Given the description of an element on the screen output the (x, y) to click on. 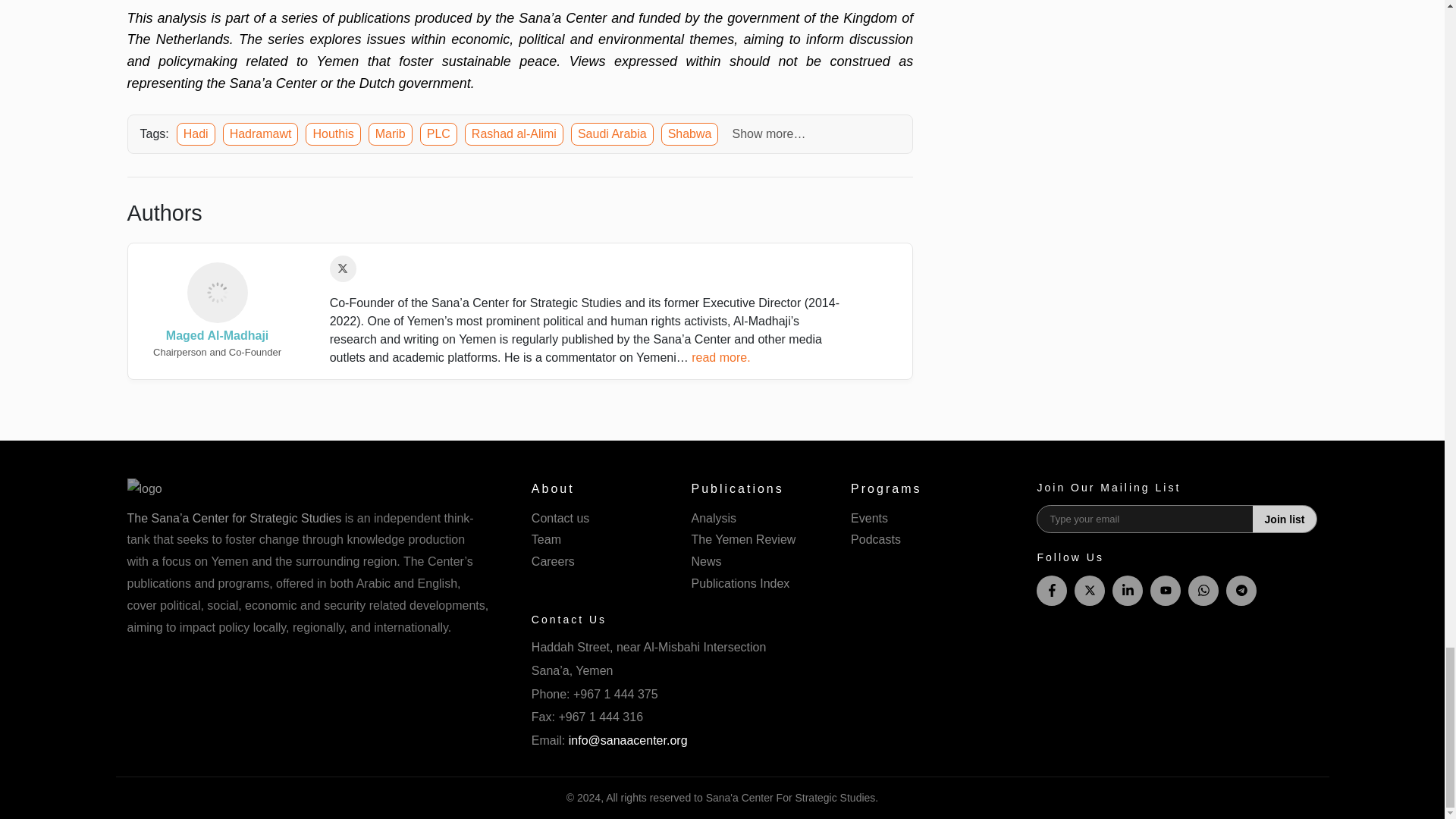
Marib (390, 133)
Houthis (332, 133)
Rashad al-Alimi (513, 133)
read more. (720, 357)
Shabwa (690, 133)
PLC (438, 133)
Hadi (195, 133)
Maged Al-Madhaji (216, 303)
Hadramawt (260, 133)
Saudi Arabia (611, 133)
